Given the description of an element on the screen output the (x, y) to click on. 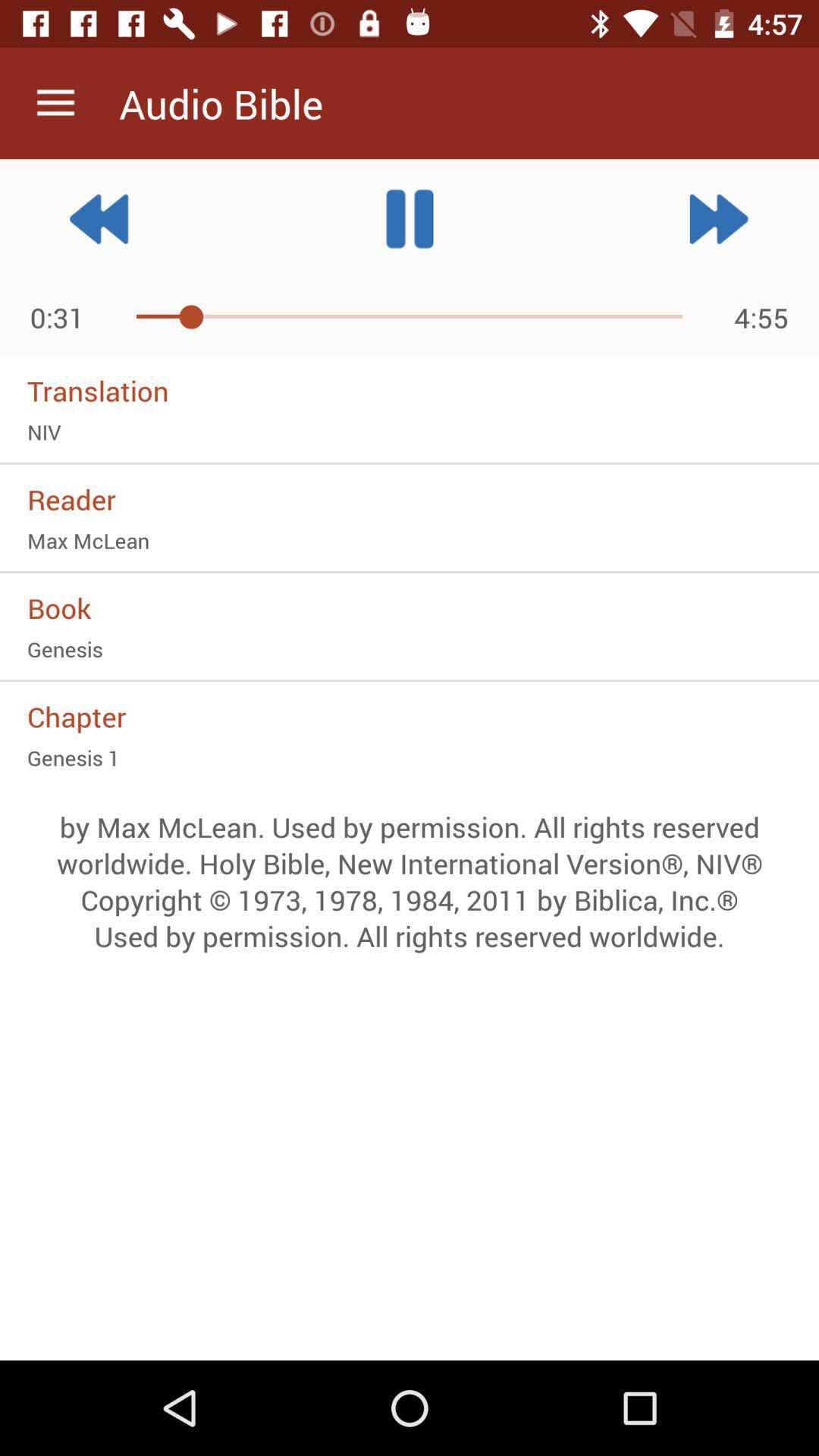
choose item above max mclean icon (409, 499)
